Given the description of an element on the screen output the (x, y) to click on. 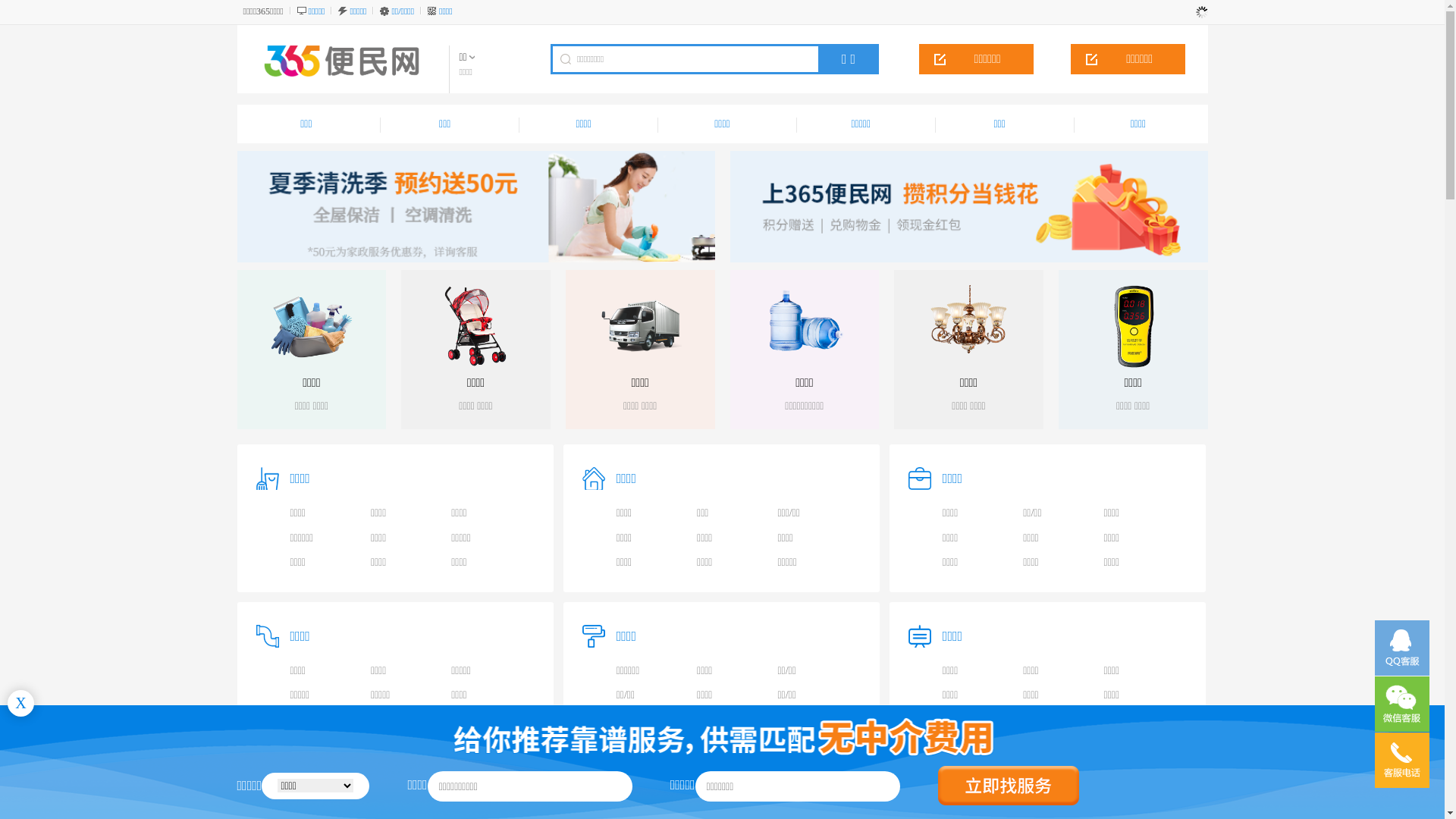
X Element type: text (20, 703)
